Given the description of an element on the screen output the (x, y) to click on. 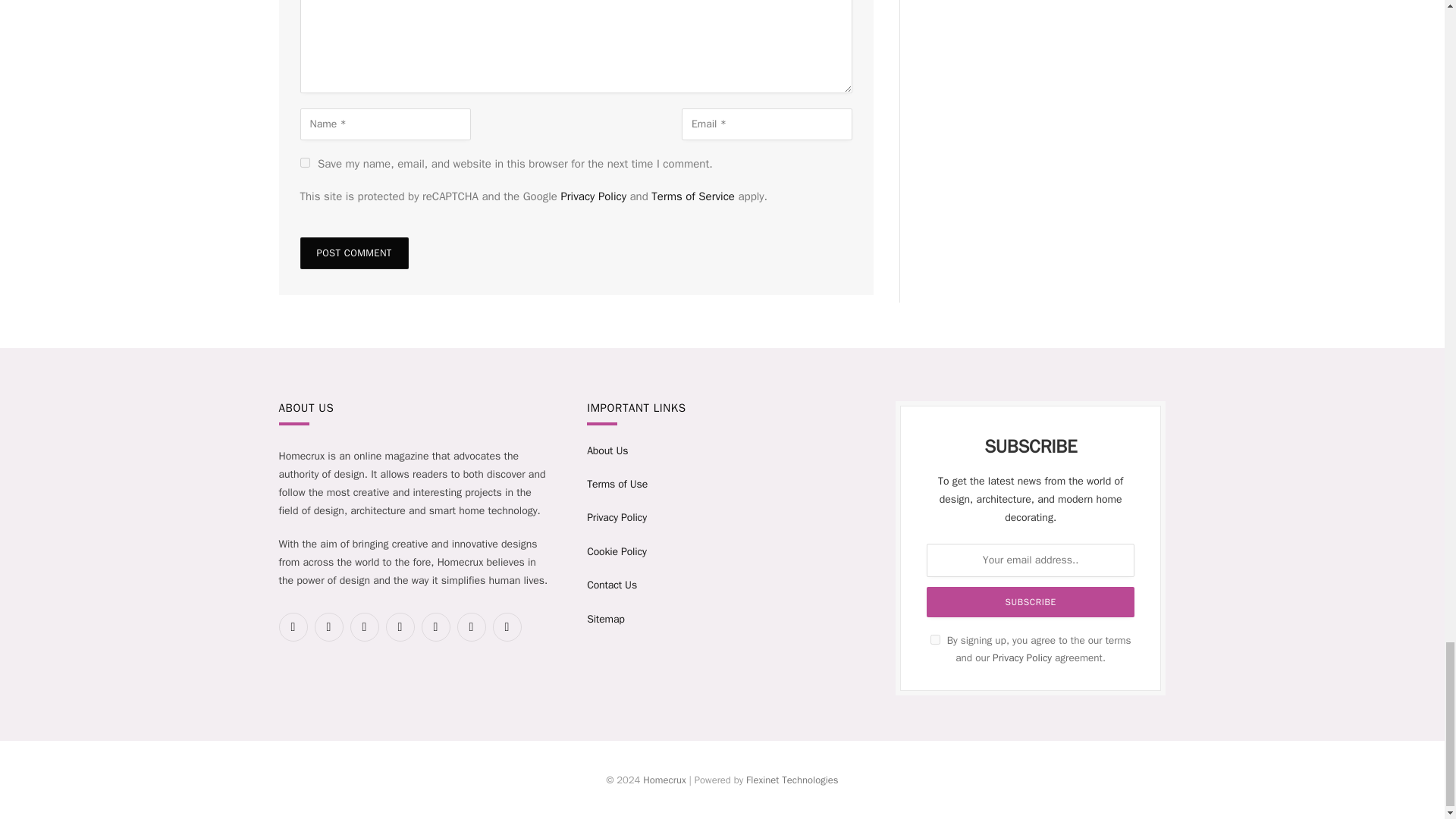
Post Comment (354, 253)
yes (304, 162)
SUBSCRIBE (1030, 602)
on (935, 639)
